Given the description of an element on the screen output the (x, y) to click on. 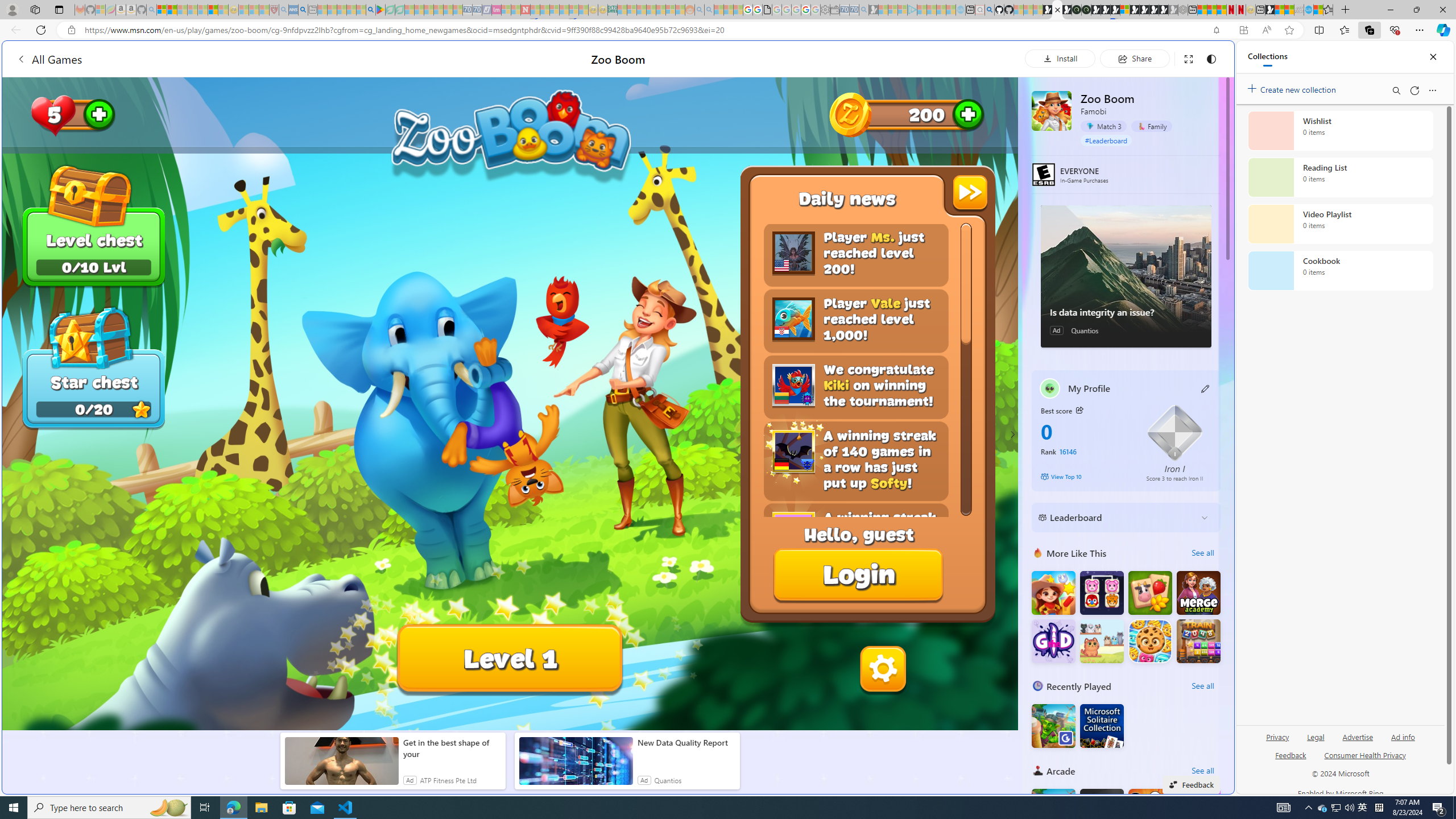
Play Cave FRVR in your browser | Games from Microsoft Start (922, 242)
MSNBC - MSN - Sleeping (621, 9)
Reading List collection, 0 items (1339, 177)
Cookbook collection, 0 items (1339, 270)
Arcade (1037, 770)
Settings - Sleeping (824, 9)
